Given the description of an element on the screen output the (x, y) to click on. 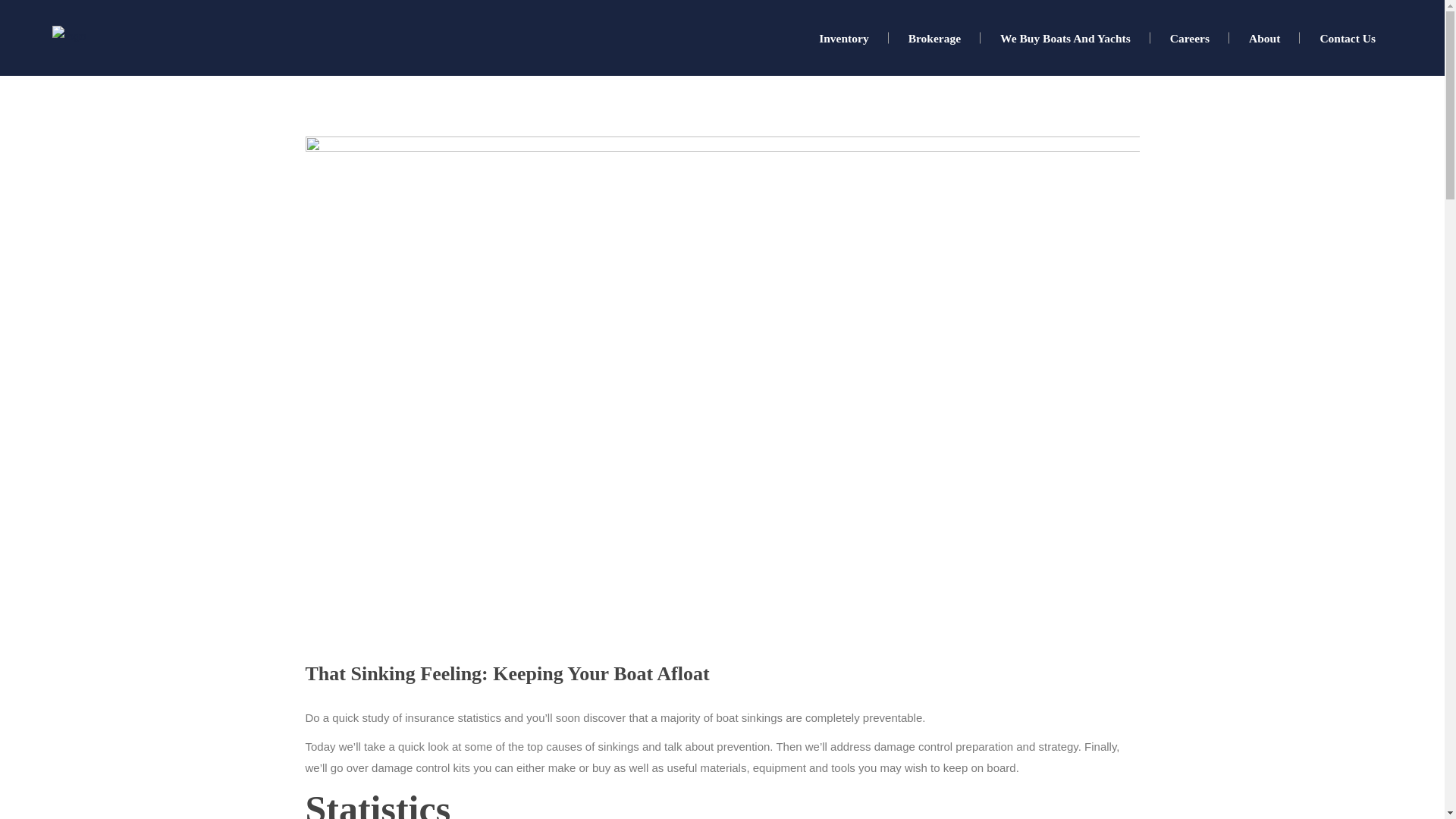
Brokerage (933, 38)
We Buy Boats And Yachts (1064, 38)
That Sinking Feeling: Keeping Your Boat Afloat (506, 673)
About (1264, 38)
Inventory (843, 38)
Contact Us (1347, 38)
Careers (1189, 38)
